Given the description of an element on the screen output the (x, y) to click on. 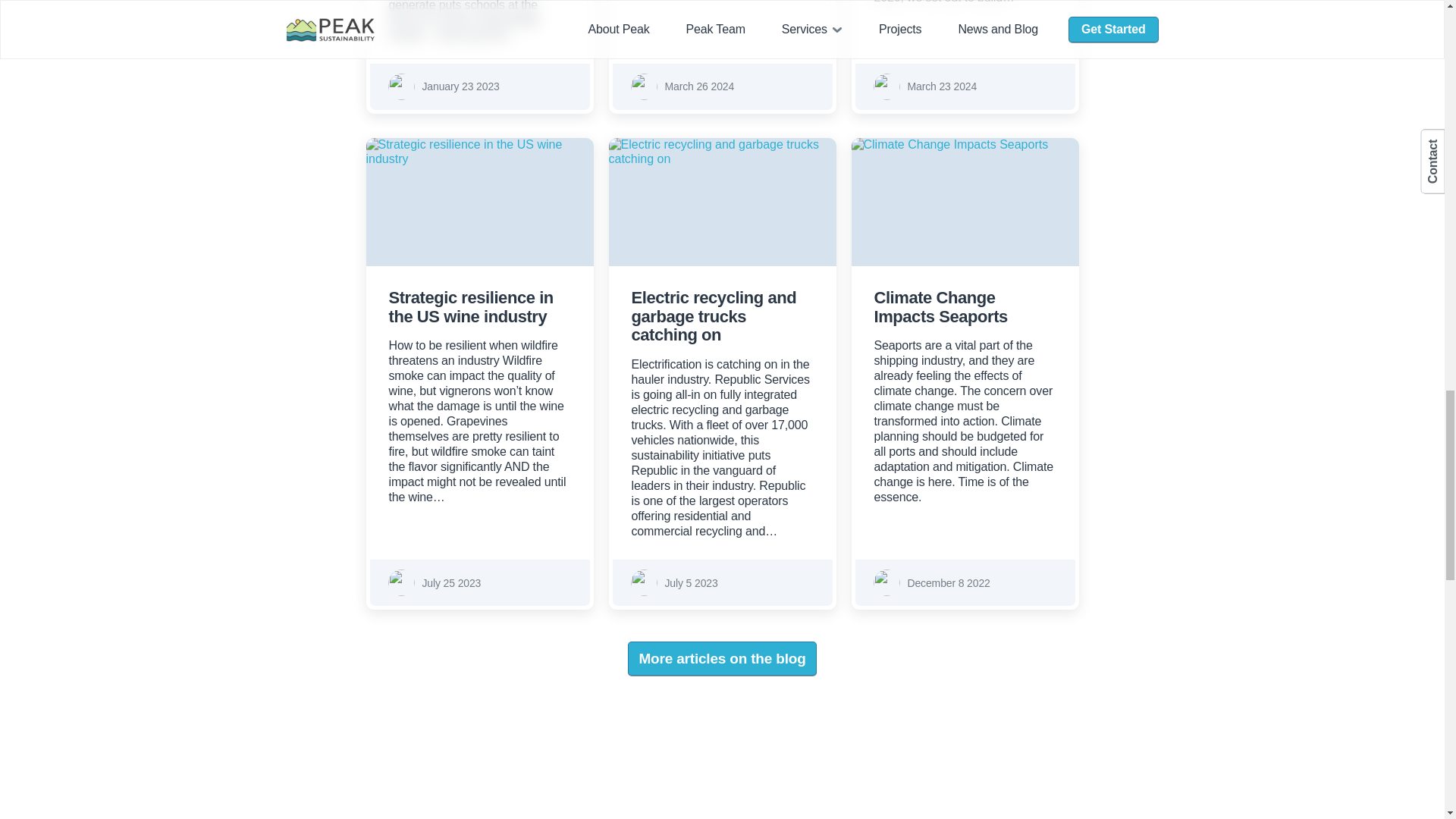
January 23 2023 (460, 86)
Electric recycling and garbage trucks catching on (721, 202)
March 26 2024 (698, 86)
Strategic resilience in the US wine industry (478, 202)
Climate Change Impacts Seaports (964, 202)
Electric recycling and garbage trucks catching on (713, 316)
Climate Change Impacts Seaports (940, 306)
Strategic resilience in the US wine industry (470, 306)
